Given the description of an element on the screen output the (x, y) to click on. 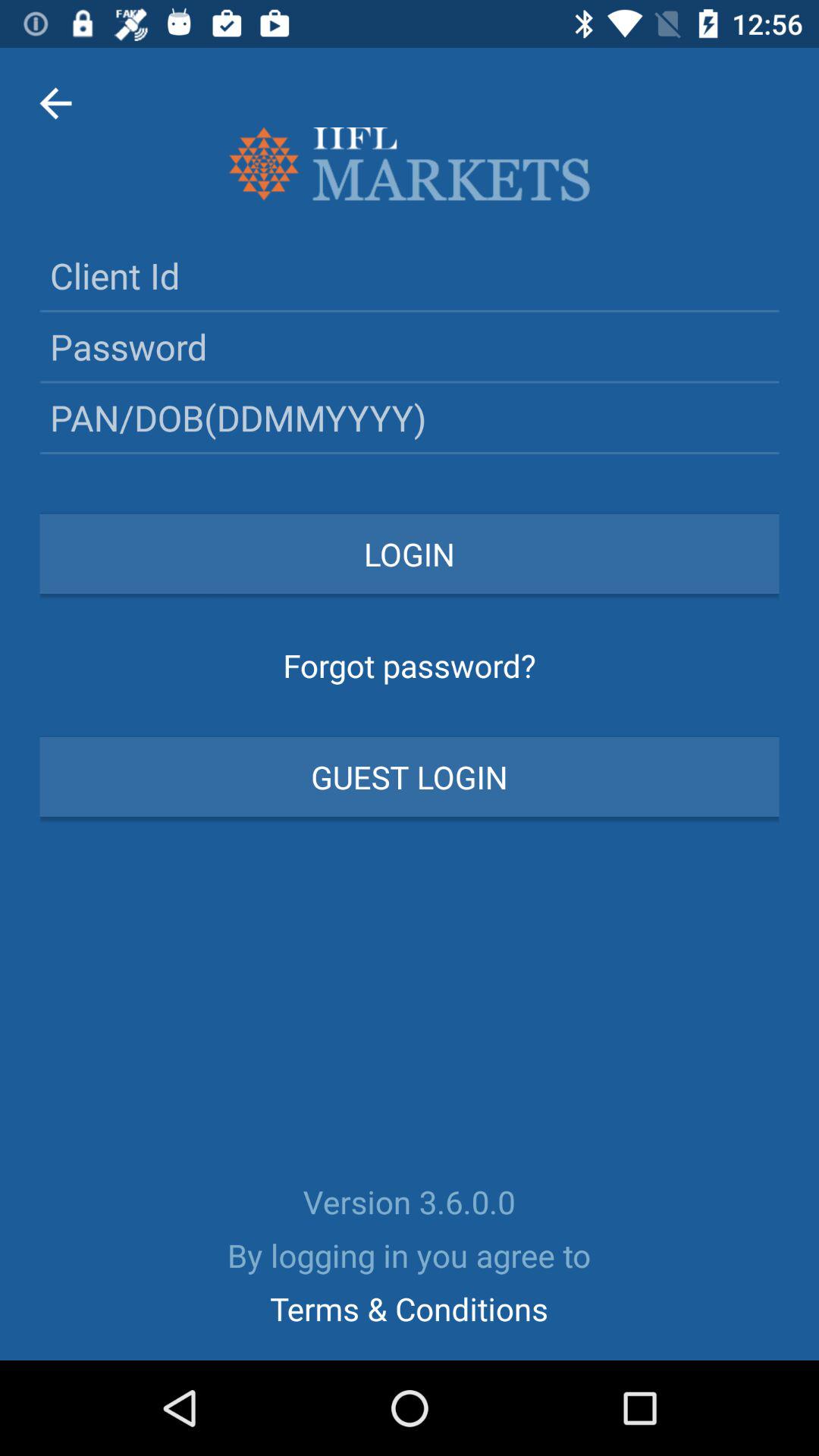
enter date of birth (409, 417)
